Given the description of an element on the screen output the (x, y) to click on. 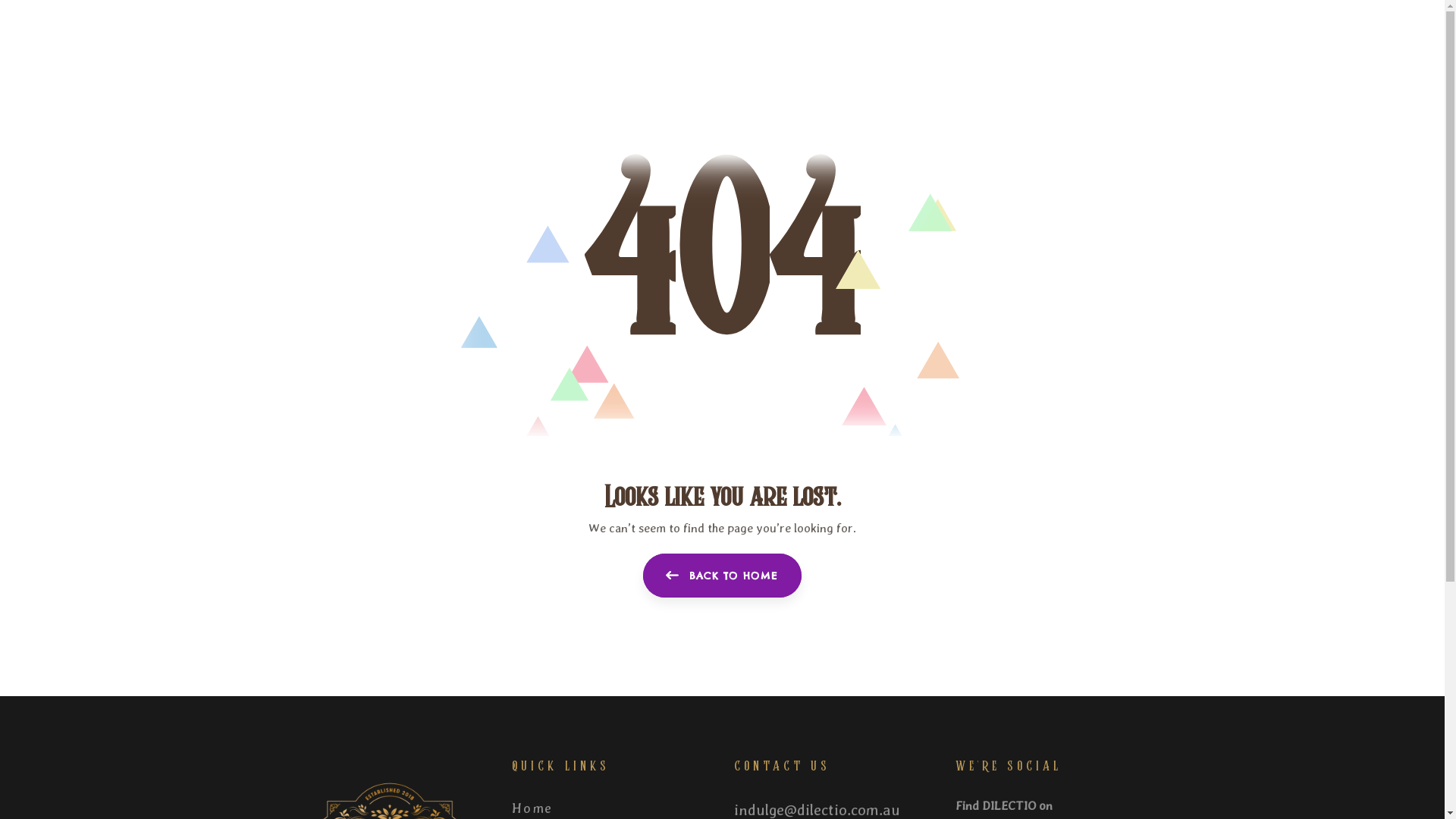
BACK TO HOME Element type: text (722, 575)
